Given the description of an element on the screen output the (x, y) to click on. 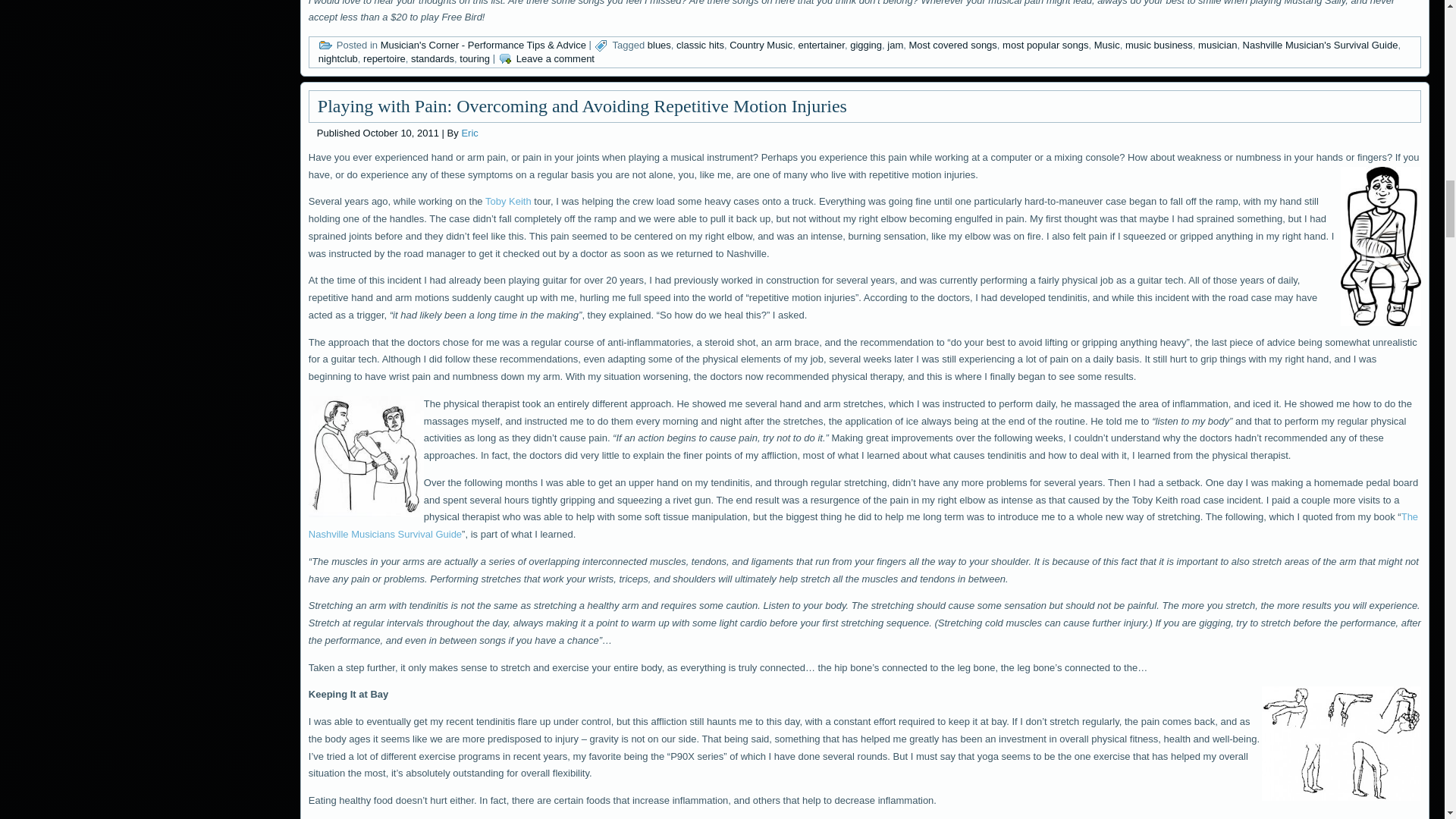
2:25 pm (400, 132)
View all posts by Eric (469, 132)
beatupguy (1380, 246)
